Given the description of an element on the screen output the (x, y) to click on. 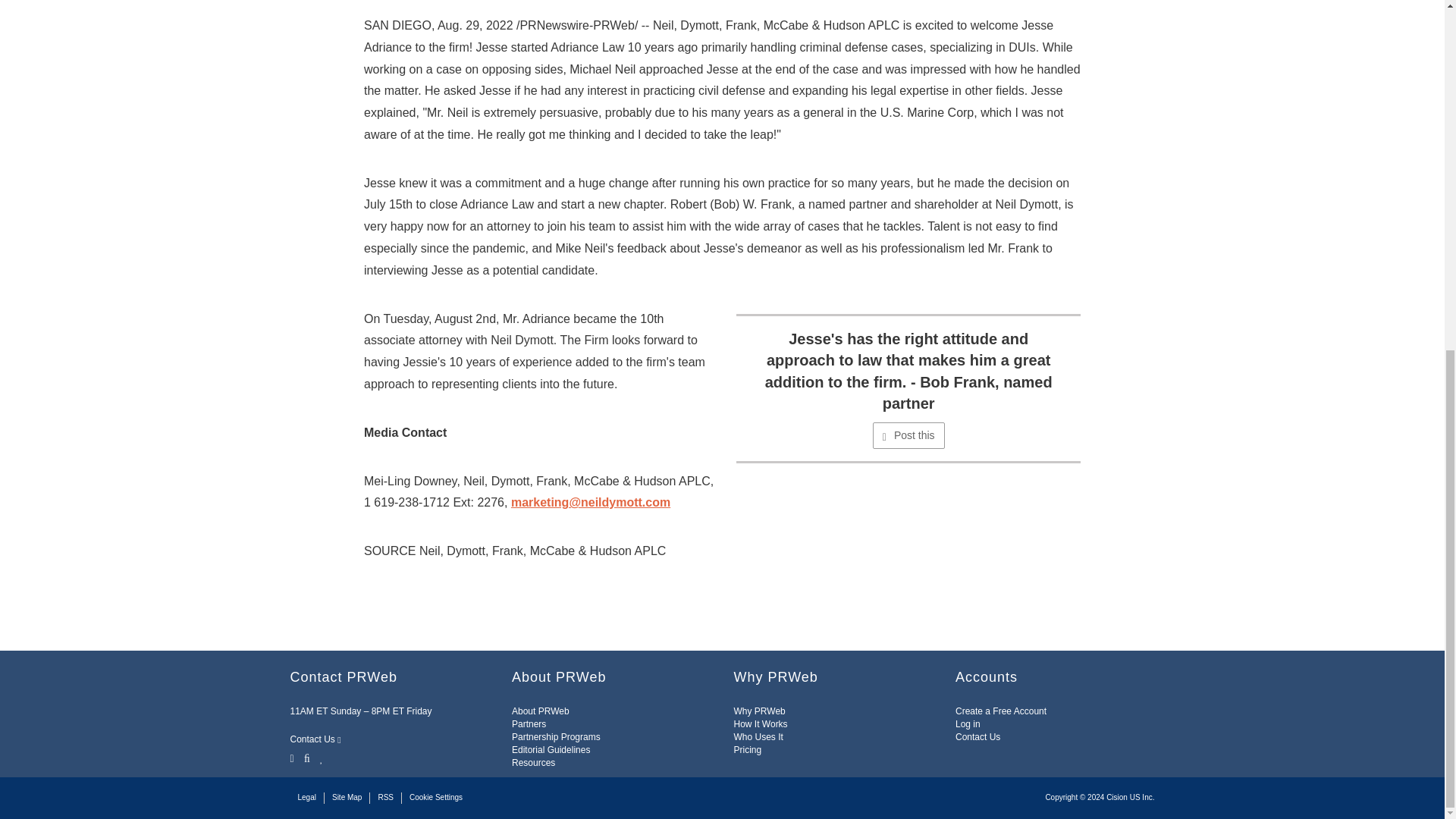
Why PRWeb (759, 710)
Editorial Guidelines (550, 749)
How It Works (760, 724)
Facebook (306, 757)
Partnership Programs (555, 737)
About PRWeb (540, 710)
Partners (529, 724)
Resources (533, 762)
